Given the description of an element on the screen output the (x, y) to click on. 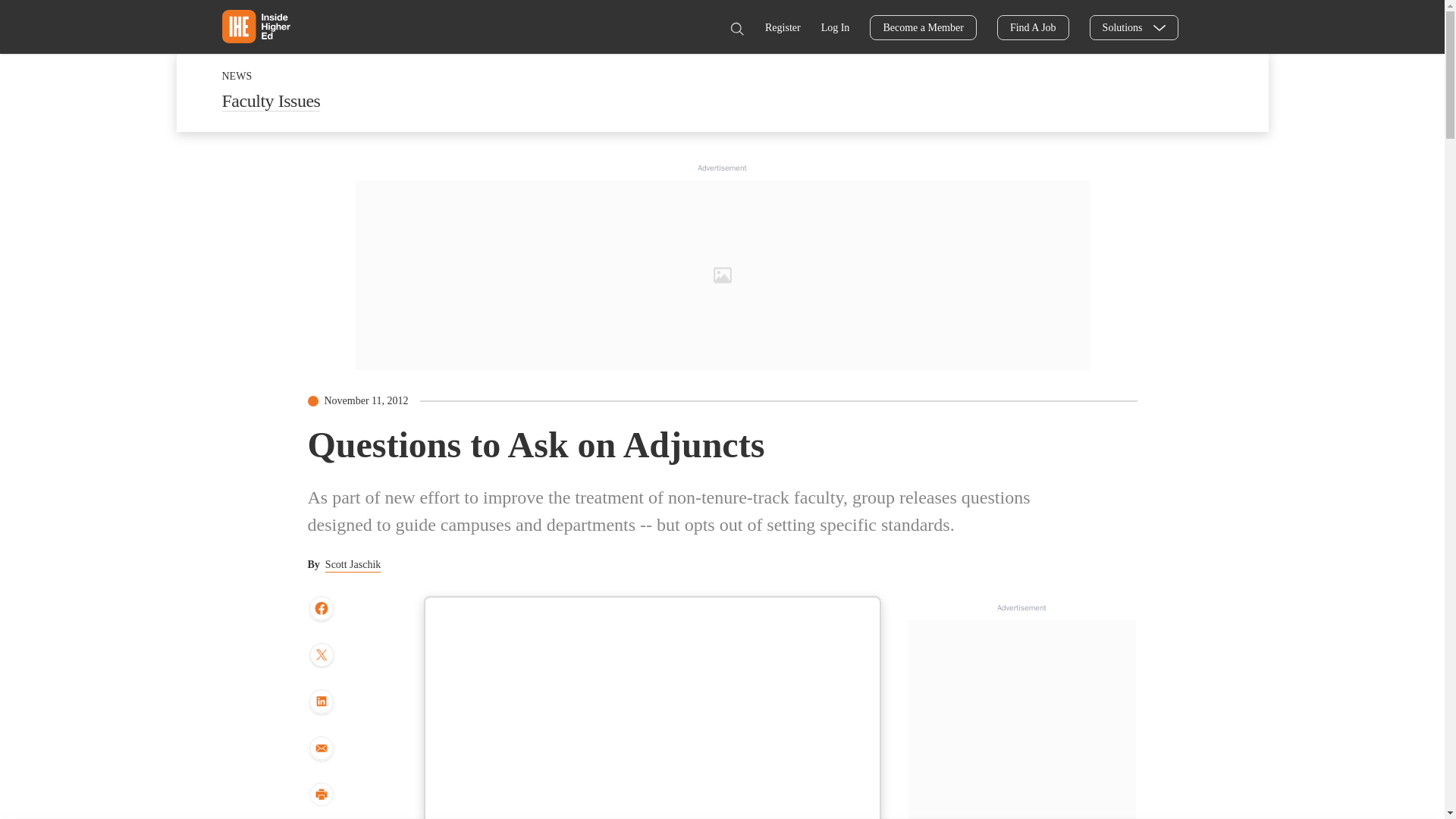
share to Linkedin (320, 702)
share to twitter (320, 656)
share to facebook (320, 609)
Become a Member (922, 27)
share by email (320, 749)
Home (255, 26)
Search (736, 28)
Find A Job (1032, 27)
